Given the description of an element on the screen output the (x, y) to click on. 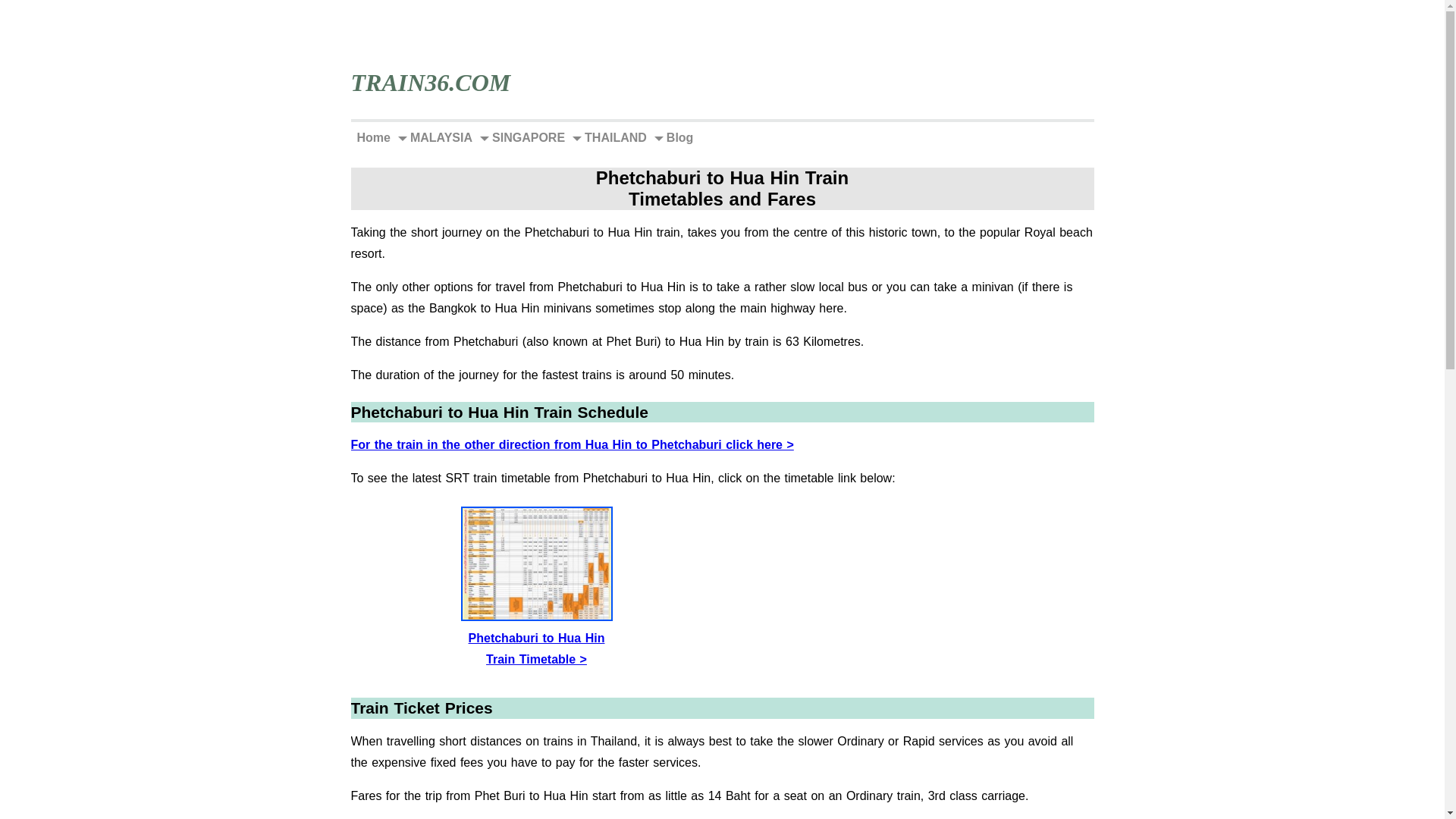
Go to Train Timetable from Bangkok Southern Route (536, 640)
TRAIN36.COM (430, 82)
Home (373, 137)
